Given the description of an element on the screen output the (x, y) to click on. 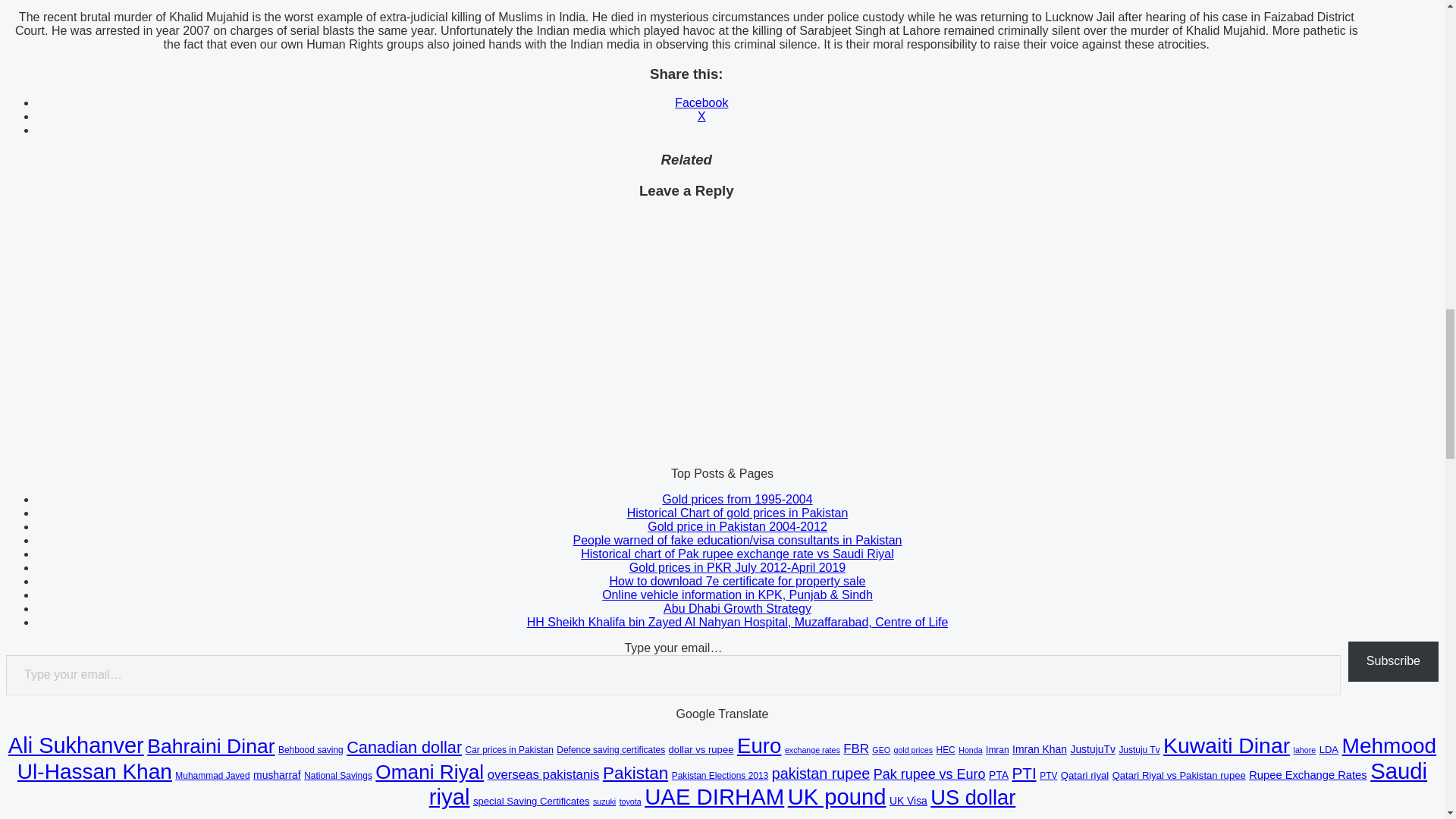
Click to share on Facebook (701, 102)
Click to share on X (701, 115)
Please fill in this field. (672, 675)
